Given the description of an element on the screen output the (x, y) to click on. 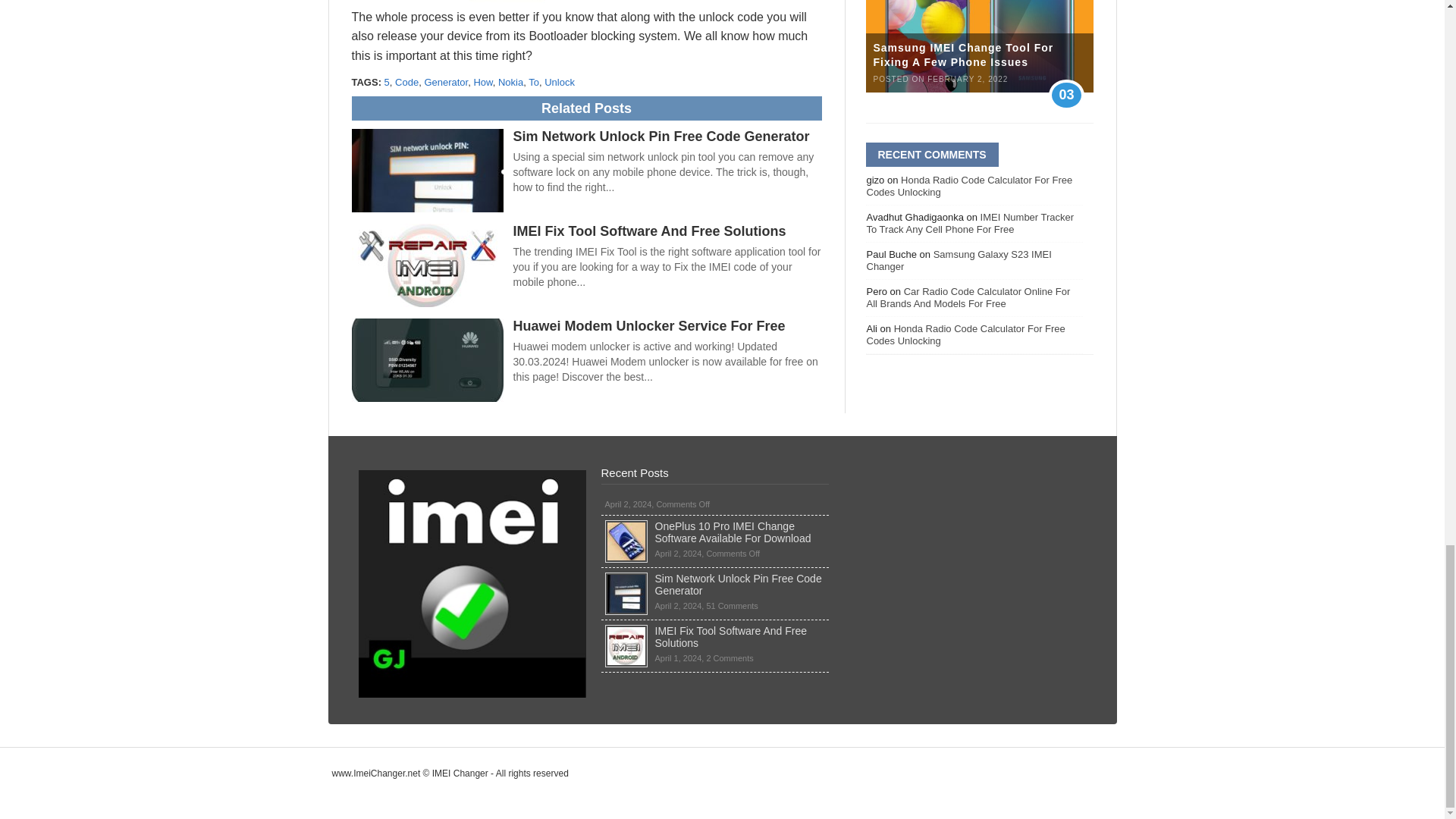
Huawei Modem Unlocker Service For Free (648, 325)
Sim Network Unlock Pin Free Code Generator (660, 136)
Sim Network Unlock Pin Free Code Generator (626, 578)
Sim Network Unlock Pin Free Code Generator (738, 584)
IMEI Fix Tool Software And Free Solutions (649, 231)
IMEI Changer (471, 583)
OnePlus 10 Pro IMEI Change Software Available For Download (626, 526)
OnePlus 10 Pro IMEI Change Software Available For Download (732, 532)
